Given the description of an element on the screen output the (x, y) to click on. 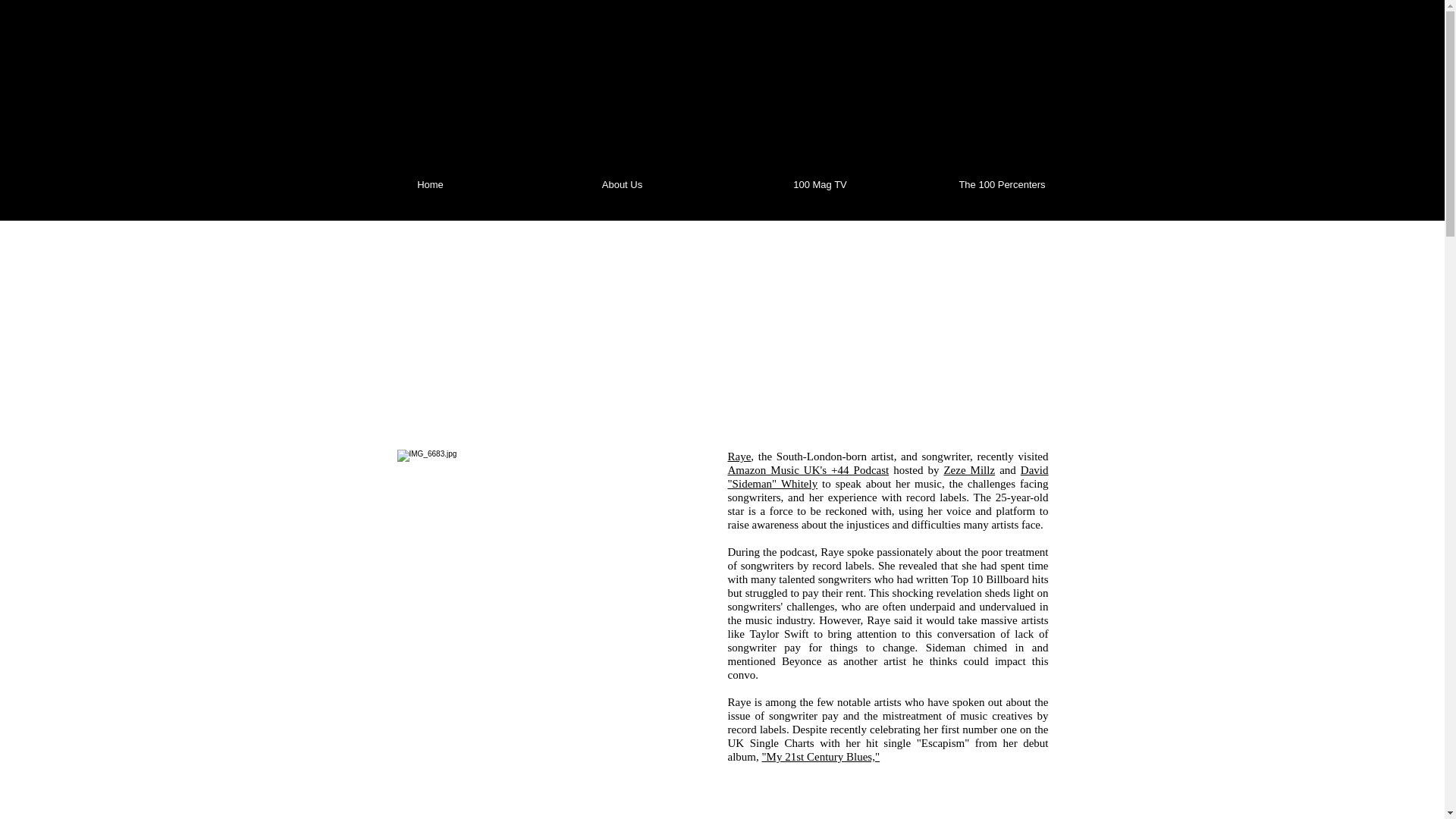
Home (431, 185)
The 100 Percenters (1003, 185)
Raye (739, 456)
David "Sideman" Whitely (888, 476)
"My 21st Century Blues," (820, 756)
100 Mag TV (821, 185)
Zeze Millz (968, 469)
About Us (622, 185)
